Given the description of an element on the screen output the (x, y) to click on. 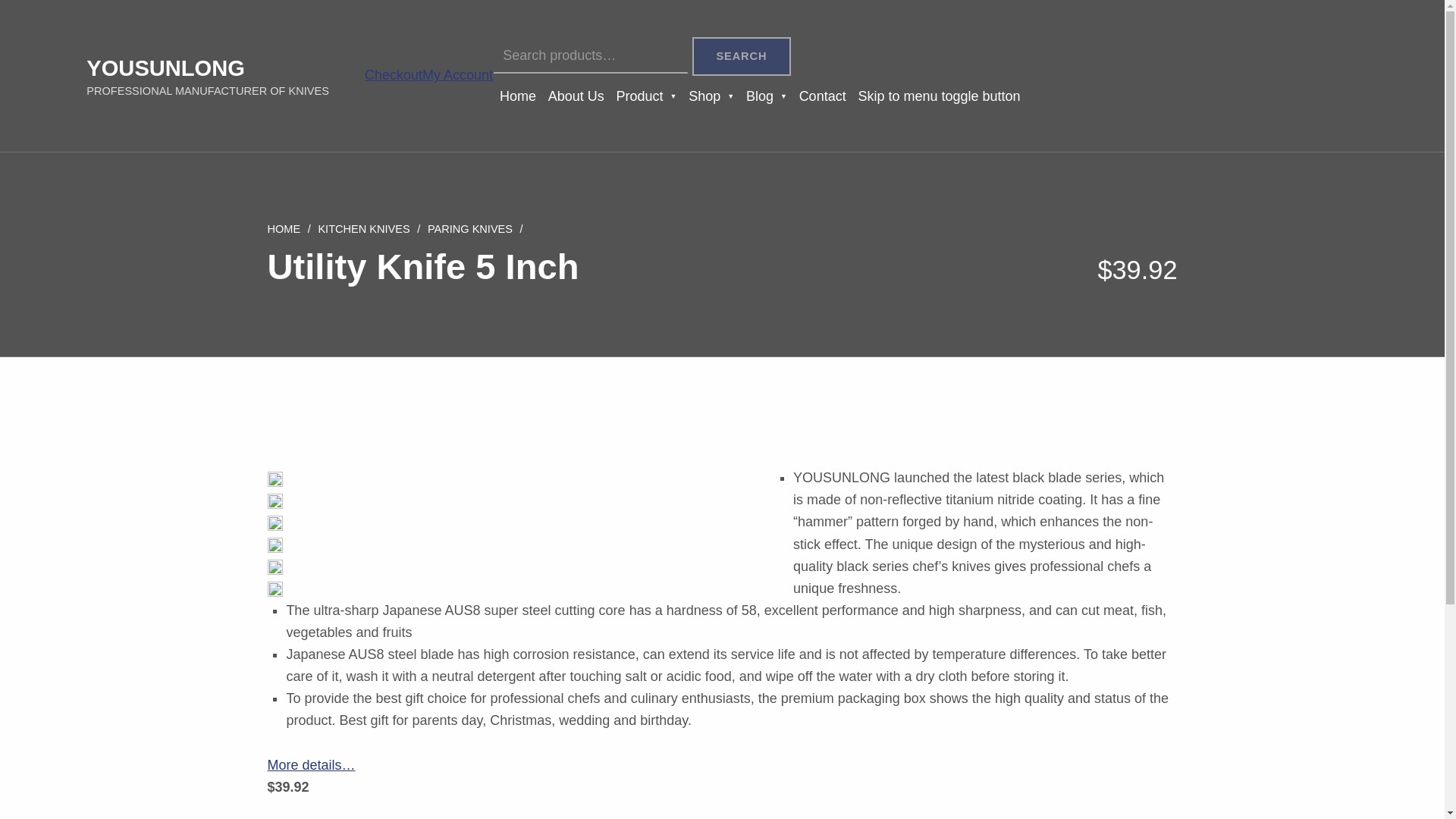
01 (274, 500)
03 (274, 544)
My Account (457, 74)
08 (274, 589)
01-1 (274, 478)
Home (517, 96)
Product (646, 96)
SEARCH (741, 55)
06 (274, 566)
02 (274, 522)
Checkout (393, 74)
About Us (575, 96)
YOUSUNLONG (164, 68)
